Given the description of an element on the screen output the (x, y) to click on. 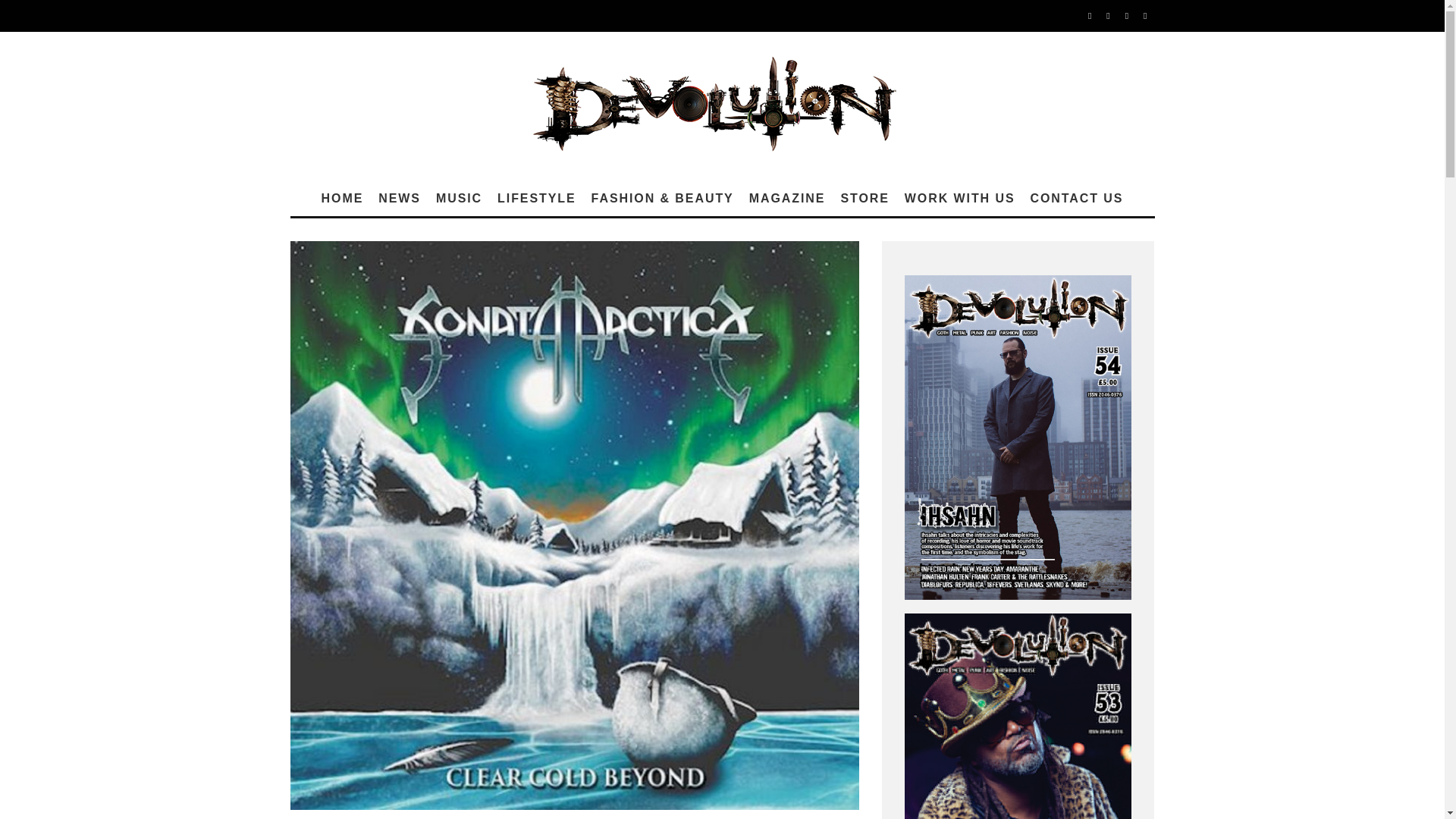
LIFESTYLE (536, 198)
NEWS (399, 198)
CONTACT US (1077, 198)
MAGAZINE (786, 198)
STORE (864, 198)
WORK WITH US (959, 198)
HOME (342, 198)
MUSIC (458, 198)
